Given the description of an element on the screen output the (x, y) to click on. 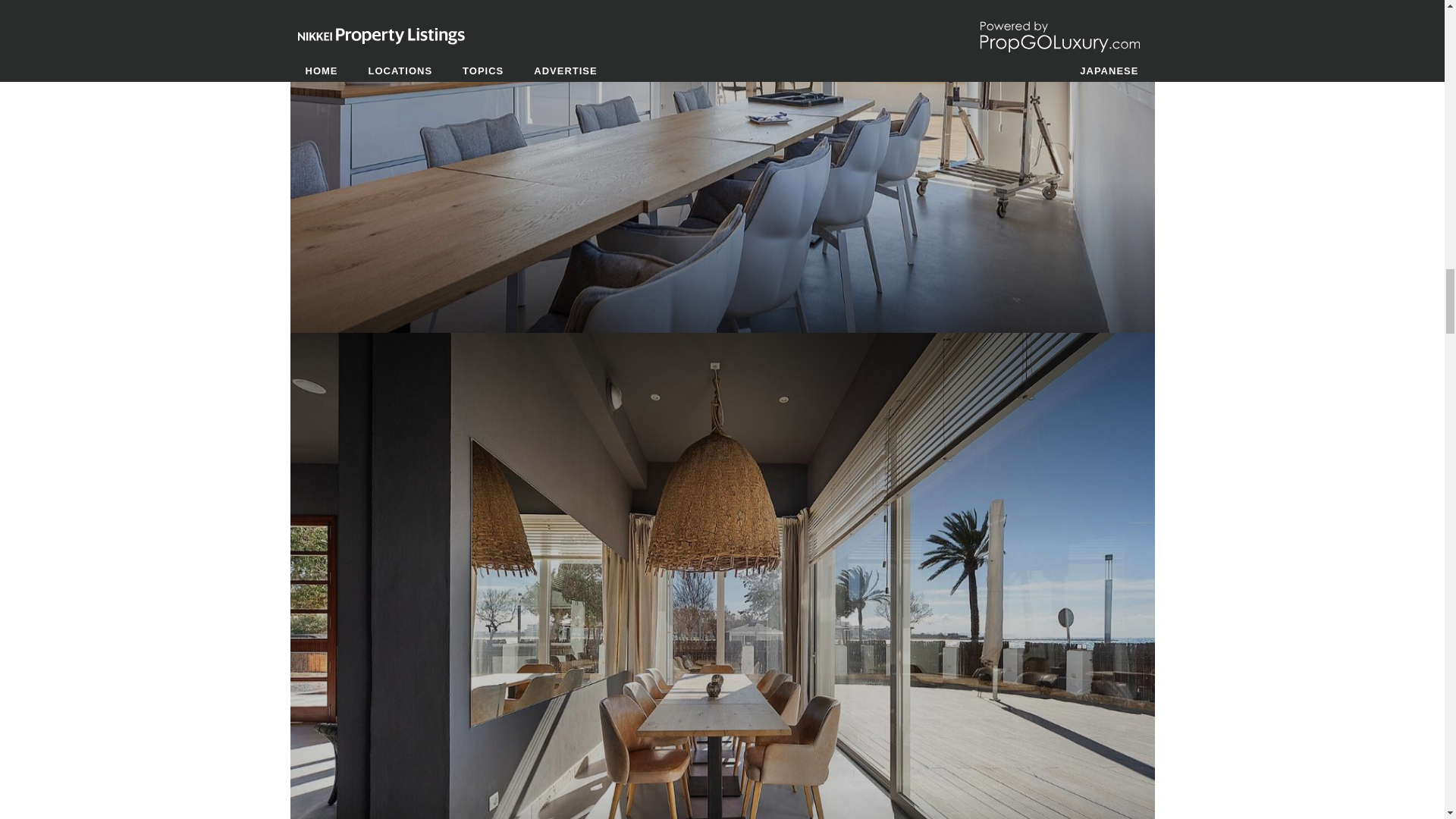
7 (721, 11)
